Given the description of an element on the screen output the (x, y) to click on. 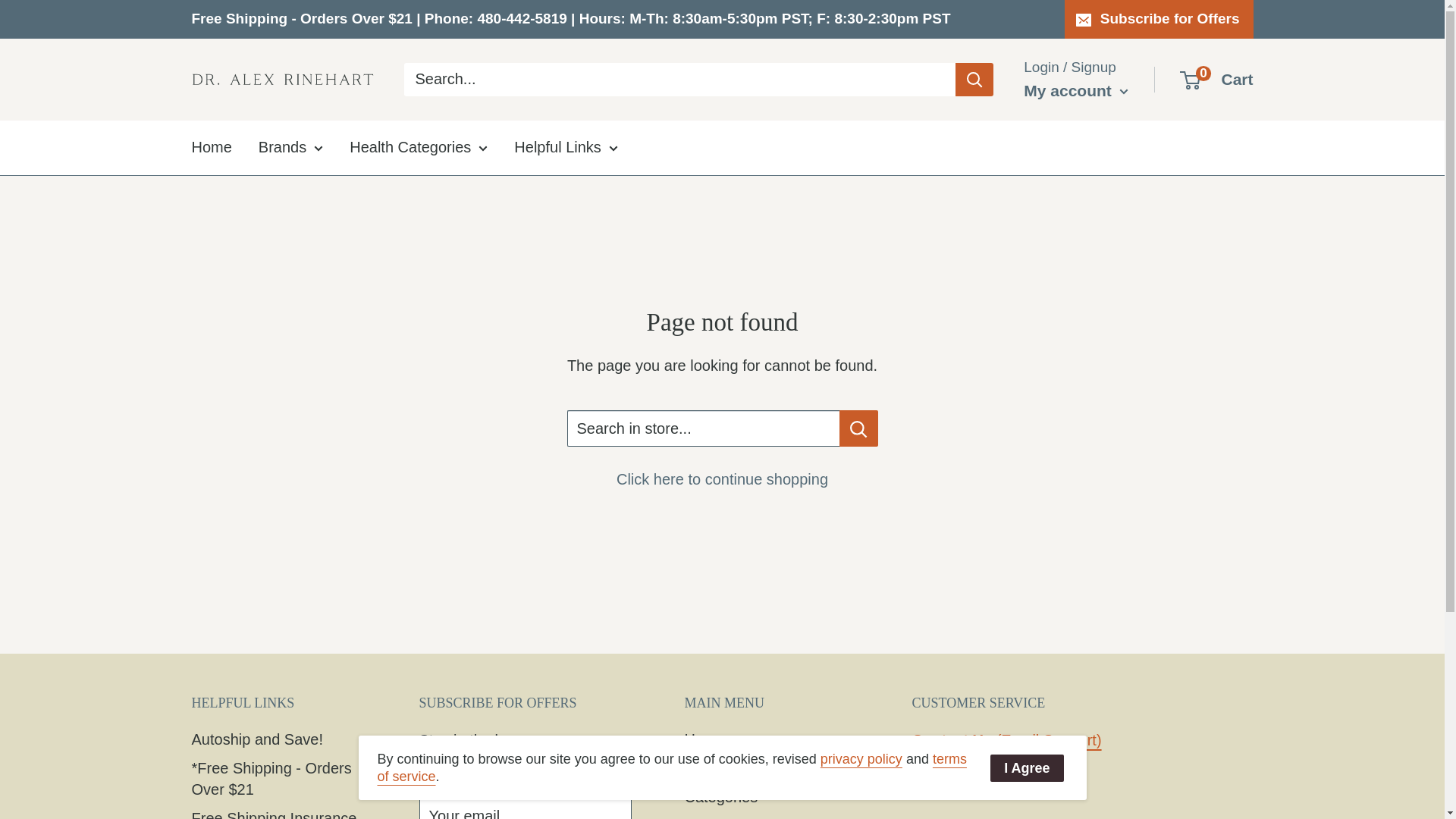
Contact Us (991, 778)
Contact Us (1048, 740)
Contact Us (951, 740)
Subscribe for Offers (1158, 18)
Terms of Service (671, 767)
